Given the description of an element on the screen output the (x, y) to click on. 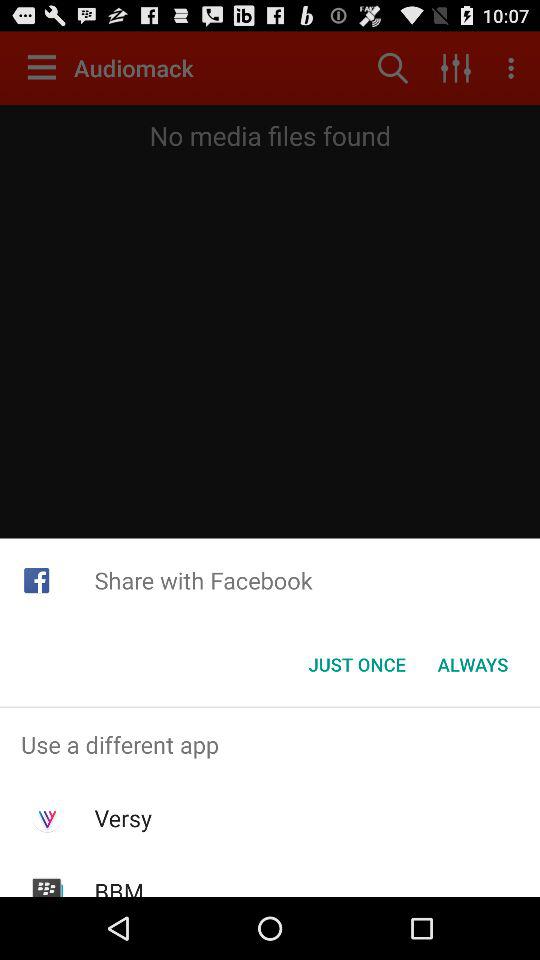
launch button next to just once button (472, 664)
